Given the description of an element on the screen output the (x, y) to click on. 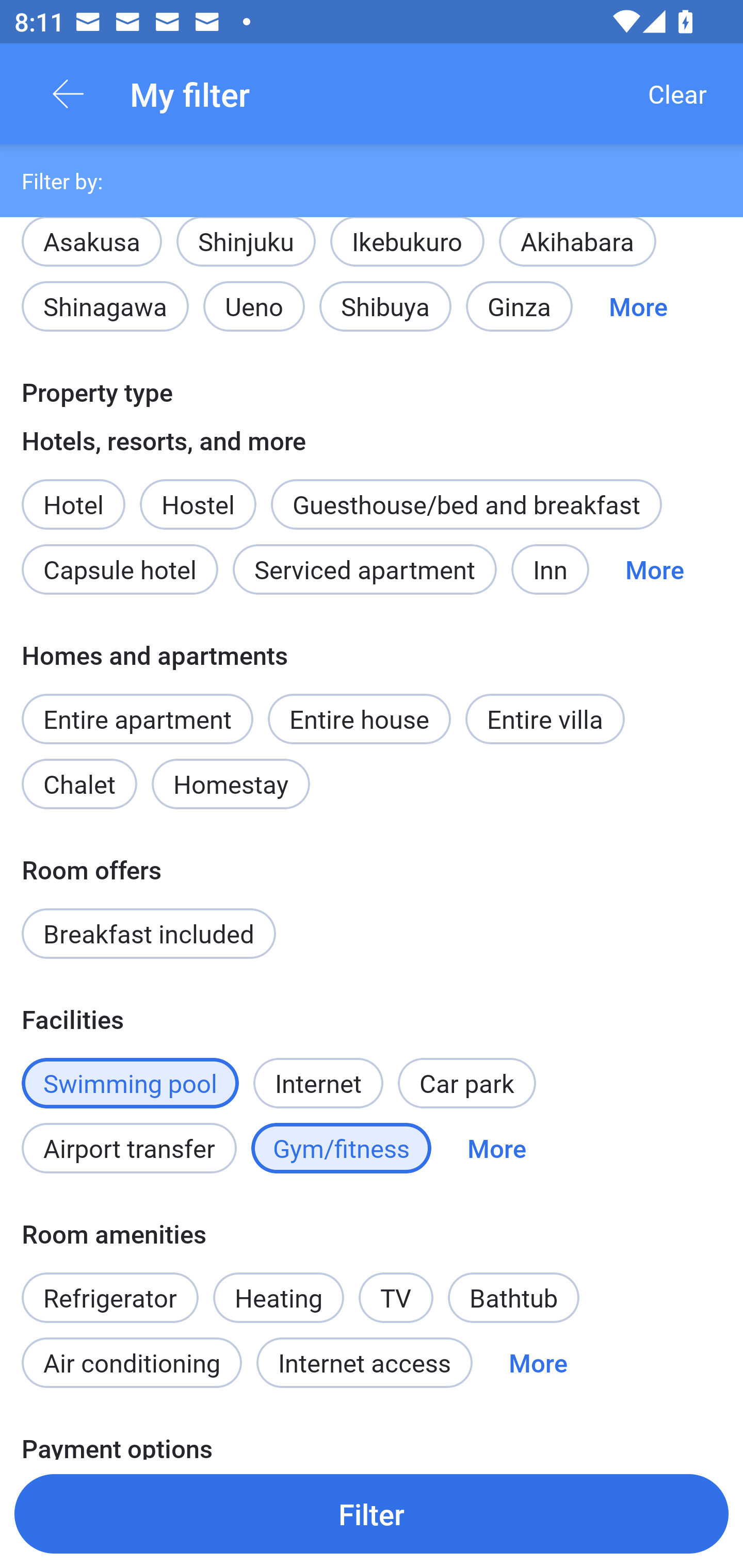
Clear (676, 93)
Asakusa (91, 239)
Shinjuku (245, 250)
Ikebukuro (406, 250)
Akihabara (577, 250)
Shinagawa (104, 306)
Ueno (253, 306)
Shibuya (385, 306)
Ginza (518, 306)
More (637, 306)
Hotel (73, 493)
Hostel (197, 503)
Guesthouse/bed and breakfast (466, 503)
Capsule hotel (119, 569)
Serviced apartment (364, 569)
Inn (550, 569)
More (654, 569)
Entire apartment (137, 718)
Entire house (359, 718)
Entire villa (544, 718)
Chalet (79, 783)
Homestay (230, 783)
Breakfast included (148, 933)
Internet (318, 1072)
Car park (466, 1082)
Airport transfer (129, 1148)
More (496, 1148)
Refrigerator (109, 1286)
Heating (278, 1297)
TV (395, 1286)
Bathtub (513, 1297)
Air conditioning (131, 1362)
Internet access (364, 1362)
More (538, 1362)
Filter (371, 1513)
